Given the description of an element on the screen output the (x, y) to click on. 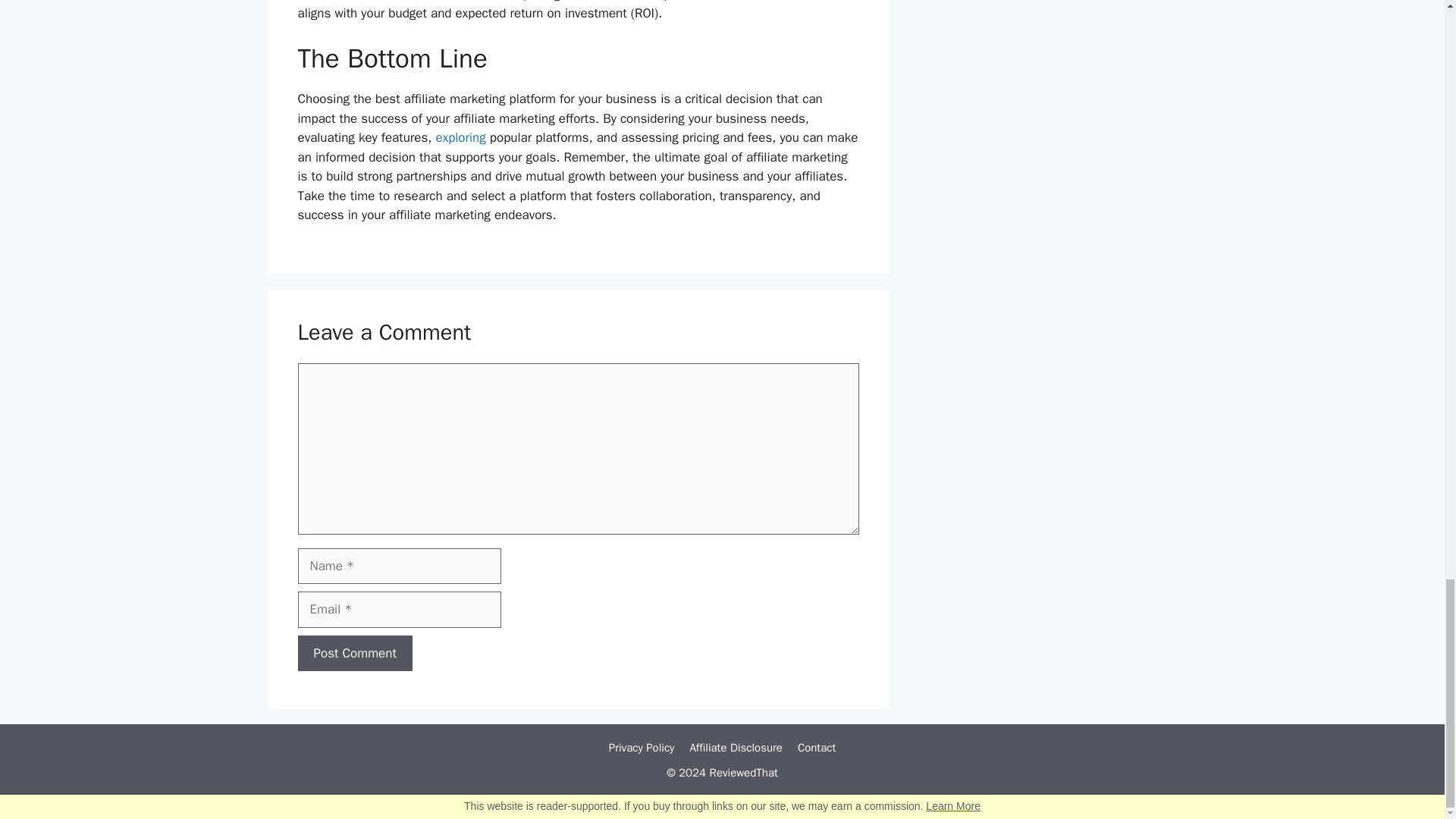
Privacy Policy (641, 747)
Post Comment (354, 653)
ReviewedThat (743, 772)
exploring (459, 137)
Affiliate Disclosure (735, 747)
Contact (816, 747)
Post Comment (354, 653)
